Given the description of an element on the screen output the (x, y) to click on. 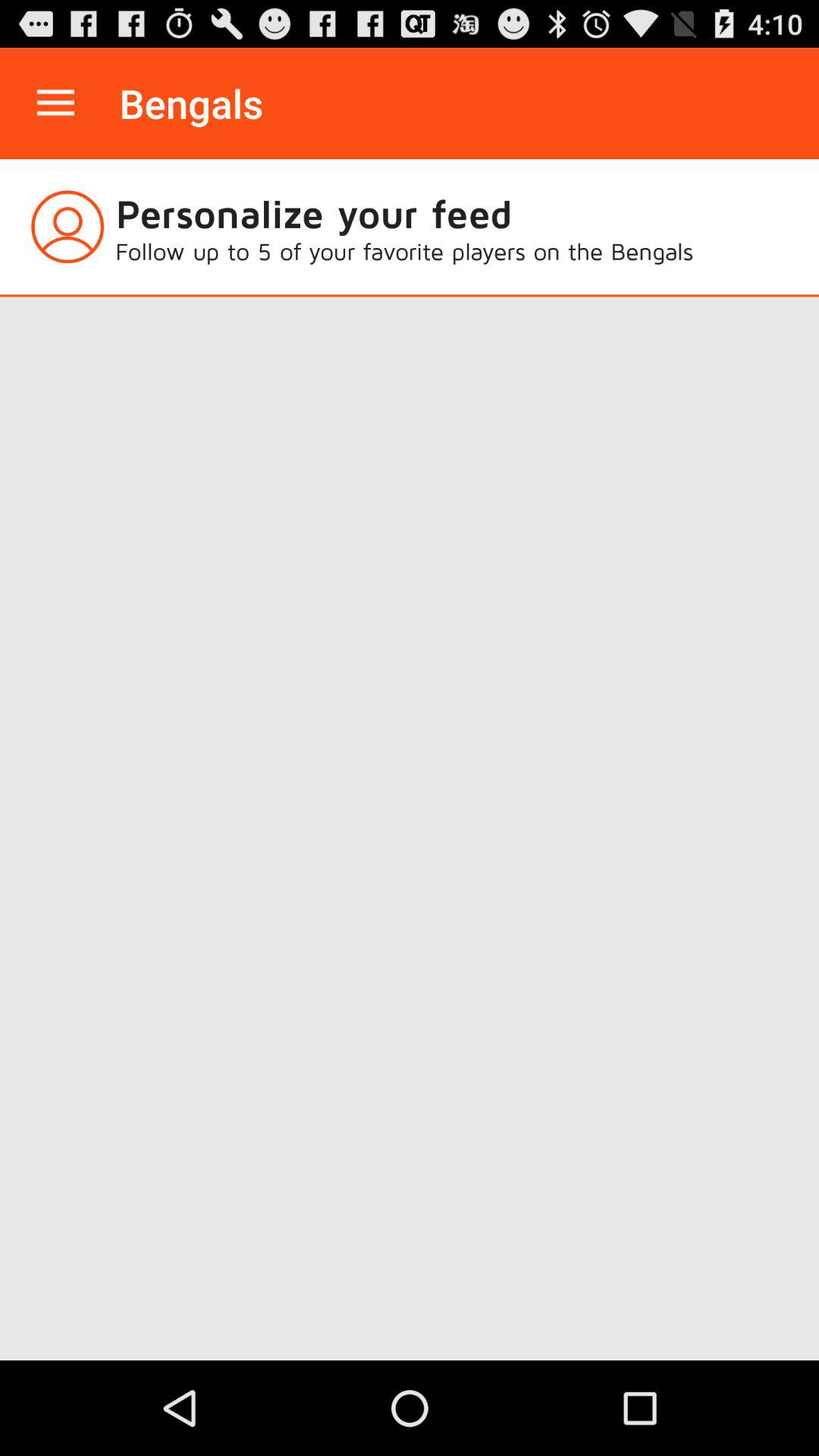
toggle menu (55, 103)
